Given the description of an element on the screen output the (x, y) to click on. 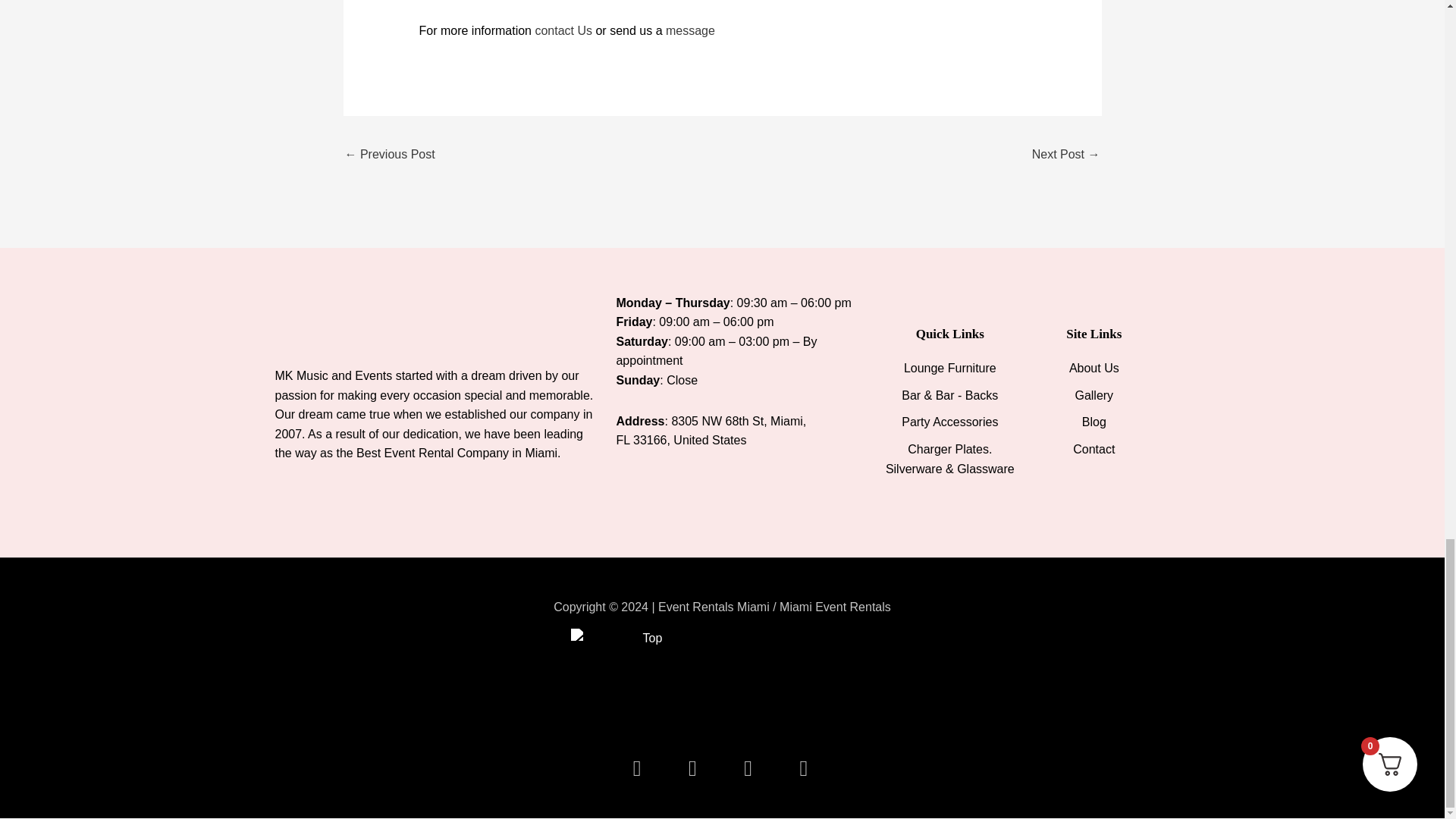
WhatsApp Image 2024-05-14 at 19.05.15 (798, 689)
Elevating Miami Events with Exquisite Bar Rentals (1066, 155)
